Given the description of an element on the screen output the (x, y) to click on. 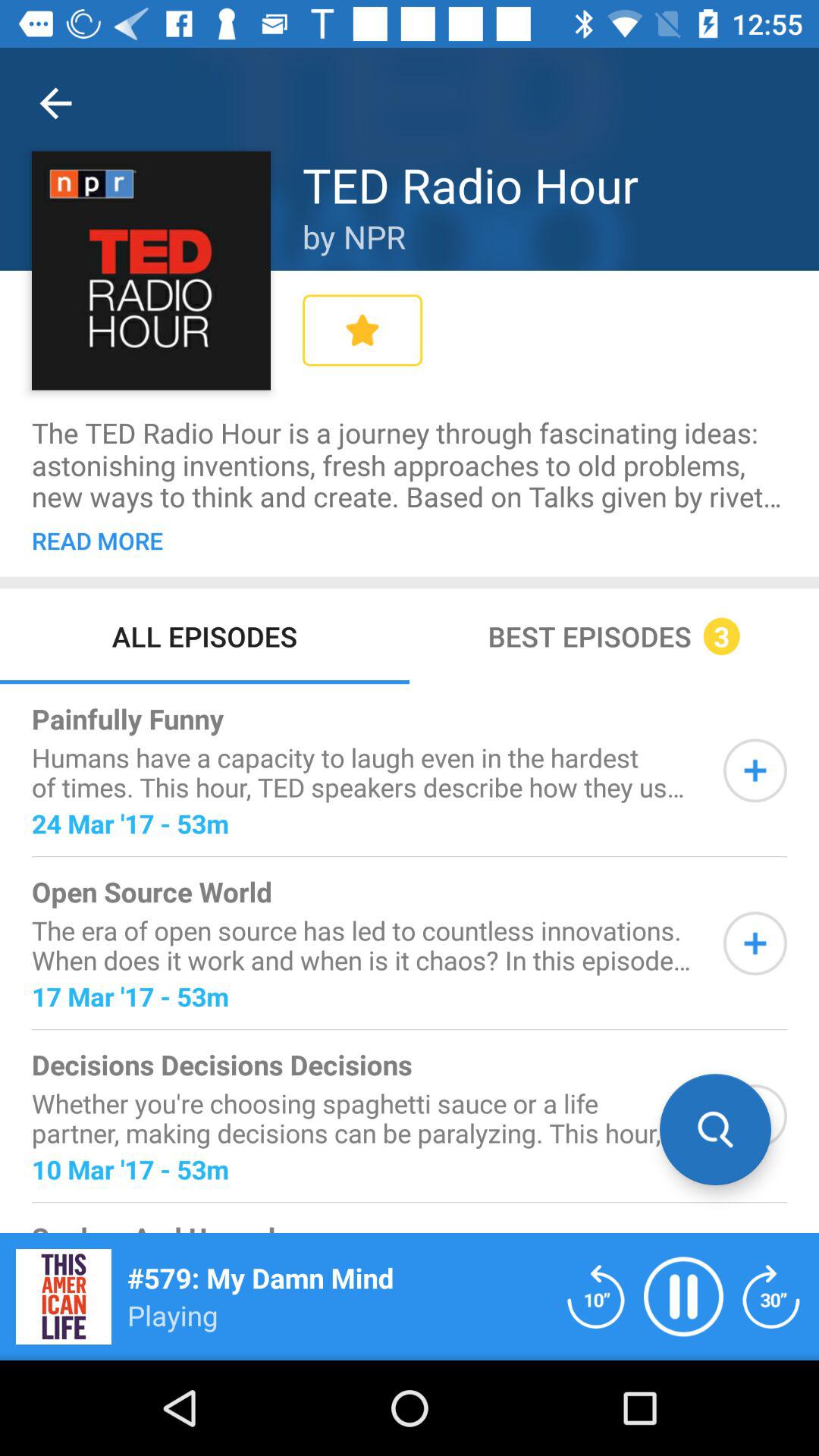
open icon to the right of the decisions decisions decisions item (715, 1129)
